Given the description of an element on the screen output the (x, y) to click on. 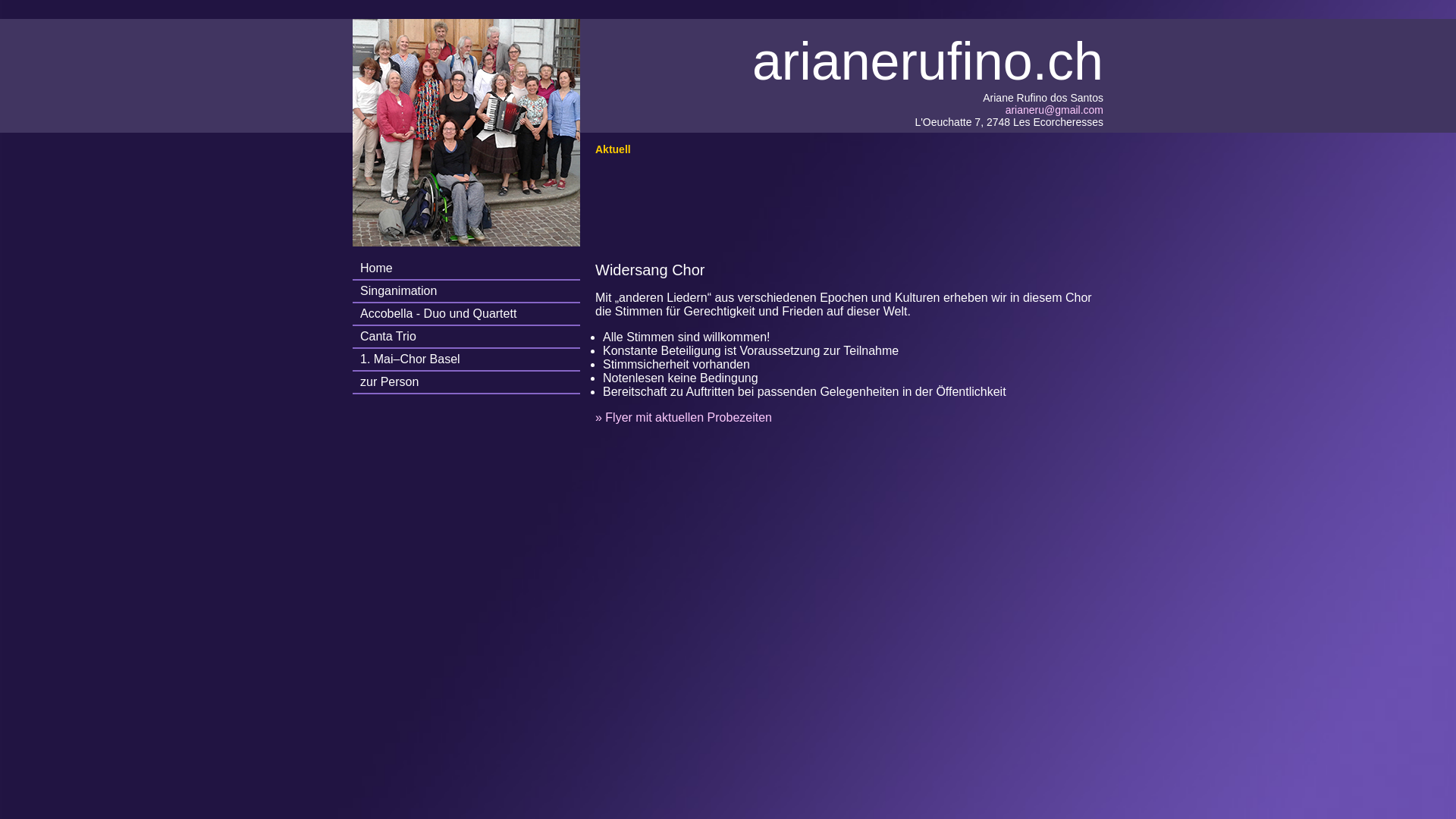
Accobella - Duo und Quartett Element type: text (466, 313)
Canta Trio Element type: text (466, 336)
arianeru@gmail.com Element type: text (1054, 109)
zur Person Element type: text (466, 381)
Home Element type: text (466, 268)
Singanimation Element type: text (466, 290)
